Given the description of an element on the screen output the (x, y) to click on. 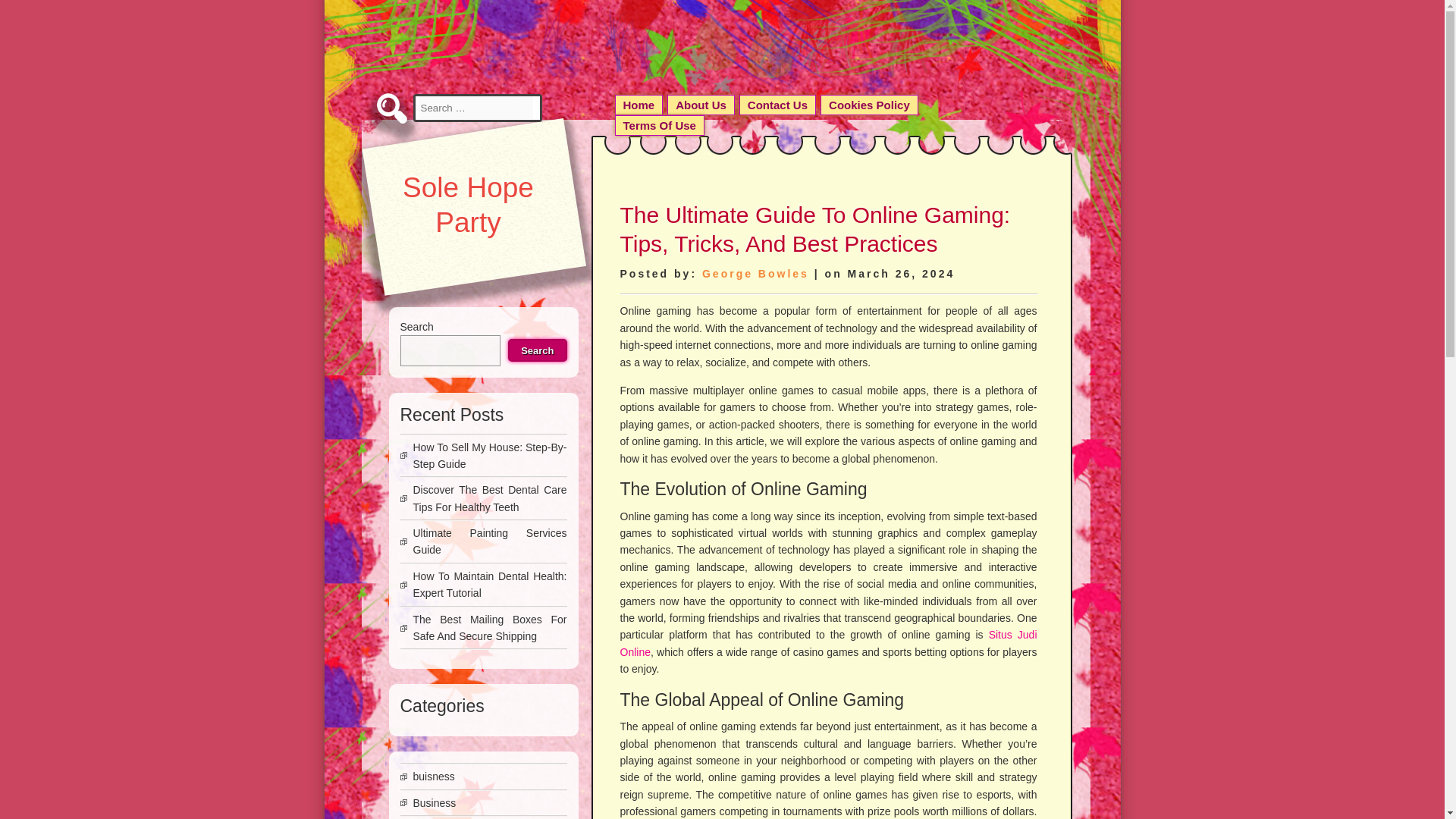
buisness (433, 776)
Search (29, 11)
Search (537, 350)
The Best Mailing Boxes For Safe And Secure Shipping (489, 627)
Business (433, 802)
George Bowles (755, 273)
Discover The Best Dental Care Tips For Healthy Teeth (489, 498)
Situs Judi Online (828, 642)
Terms Of Use (658, 125)
Ultimate Painting Services Guide (489, 541)
Contact Us (777, 105)
How To Sell My House: Step-By-Step Guide (489, 455)
Posts by George Bowles (755, 273)
How To Maintain Dental Health: Expert Tutorial (489, 584)
Cookies Policy (869, 105)
